Given the description of an element on the screen output the (x, y) to click on. 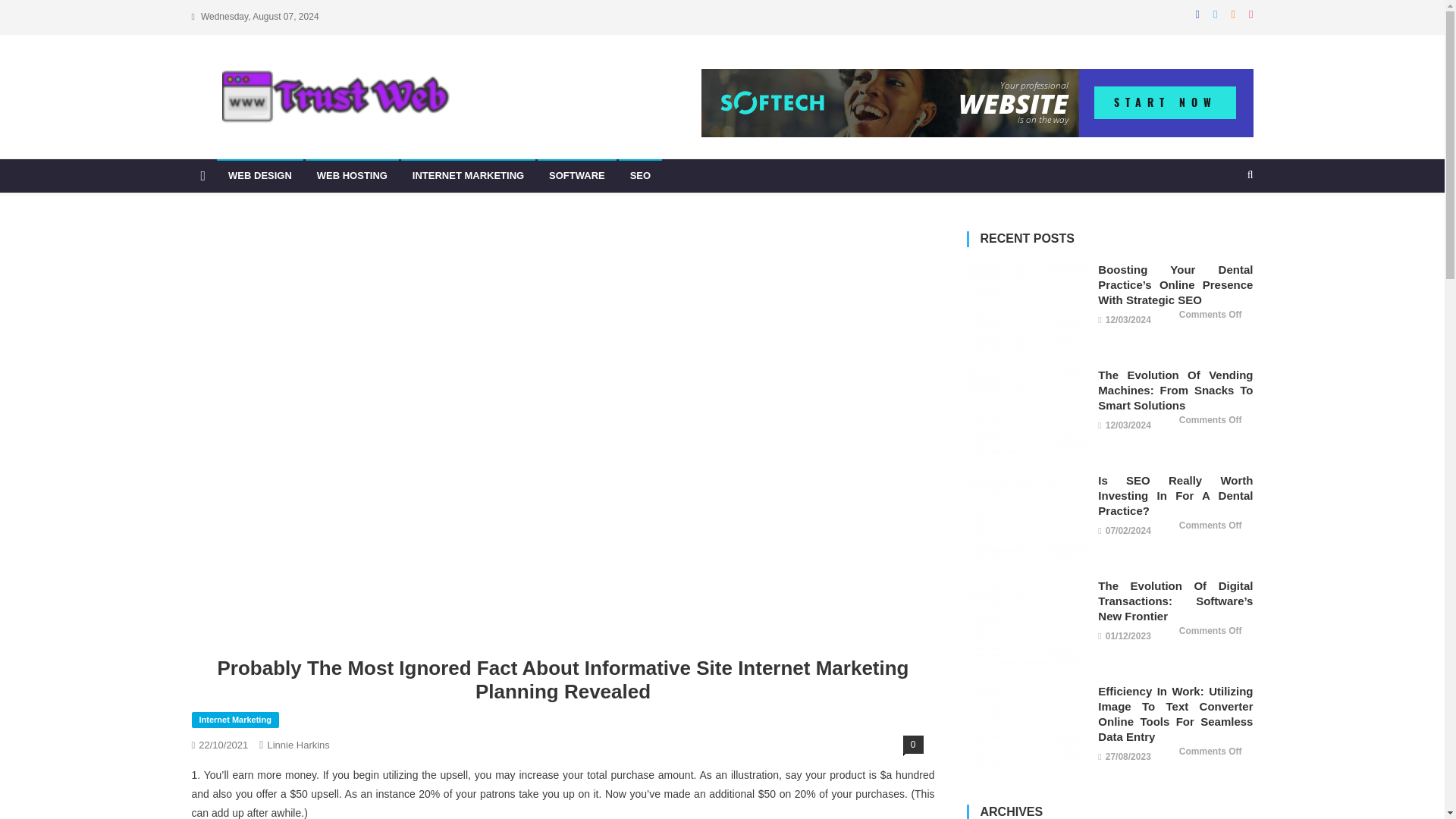
Internet Marketing (234, 719)
Is SEO Really Worth Investing In for a Dental Practice? (1026, 518)
SOFTWARE (576, 175)
Search (1221, 255)
Trust Web (248, 143)
WEB HOSTING (351, 175)
